Given the description of an element on the screen output the (x, y) to click on. 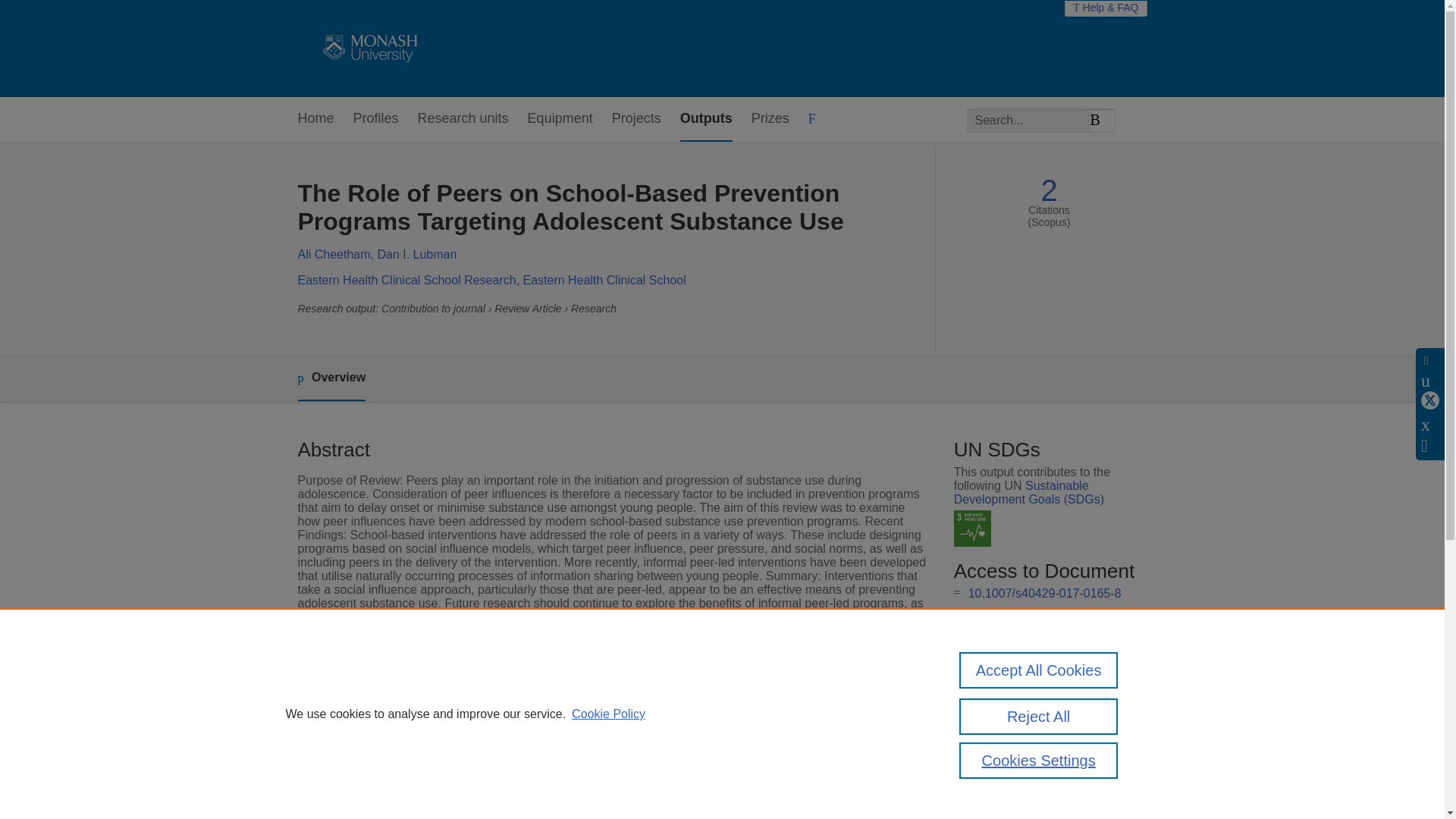
Overview (331, 378)
Ali Cheetham (333, 254)
Equipment (559, 119)
Monash University Home (366, 48)
SDG 3 - Good Health and Well-being (972, 528)
Eastern Health Clinical School (603, 279)
Outputs (705, 119)
Profiles (375, 119)
Projects (636, 119)
Link to publication in Scopus (1045, 653)
